Given the description of an element on the screen output the (x, y) to click on. 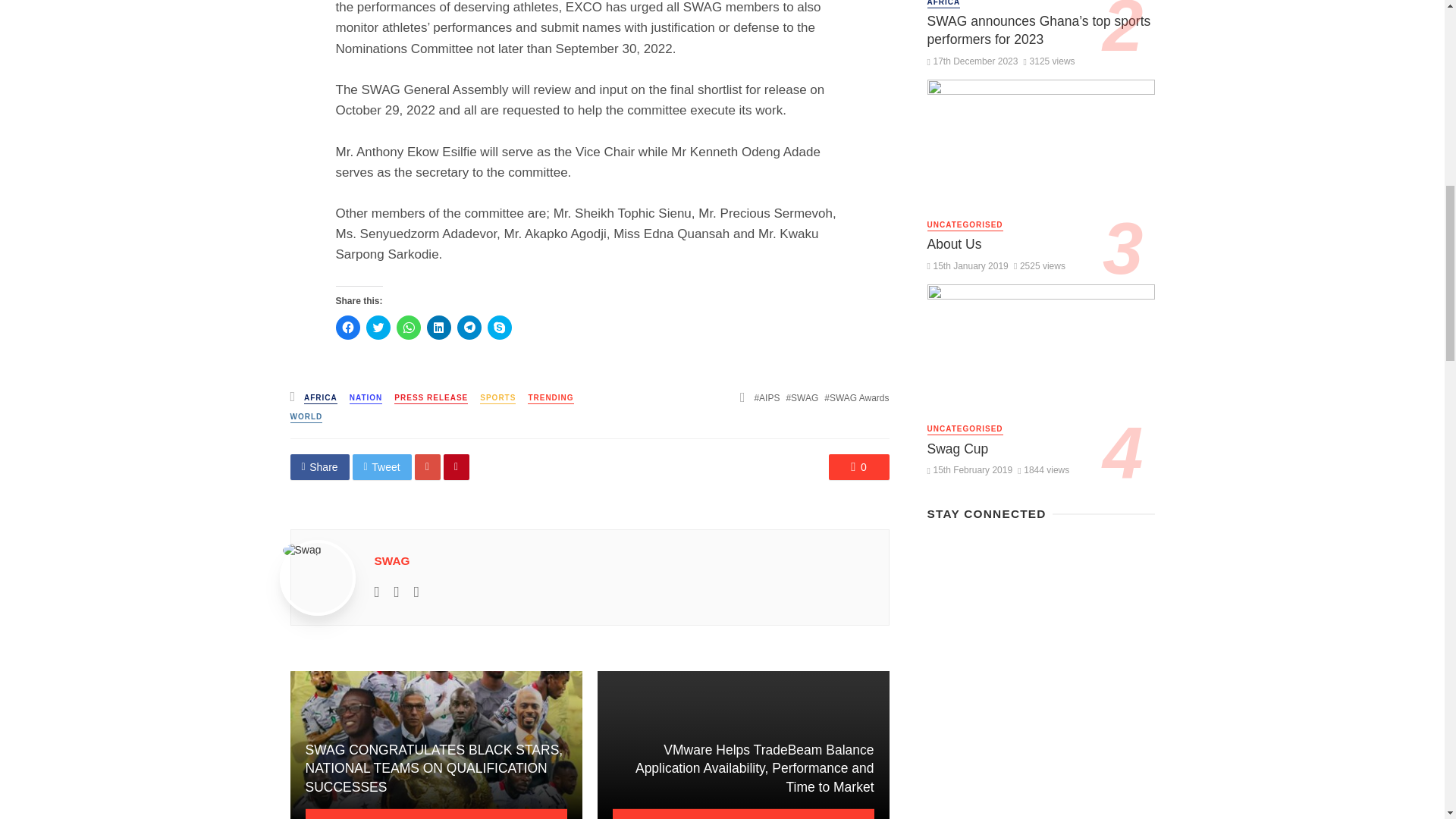
Click to share on Twitter (377, 327)
Click to share on Telegram (468, 327)
Click to share on Facebook (346, 327)
Click to share on Skype (498, 327)
Click to share on WhatsApp (408, 327)
Click to share on LinkedIn (437, 327)
